Given the description of an element on the screen output the (x, y) to click on. 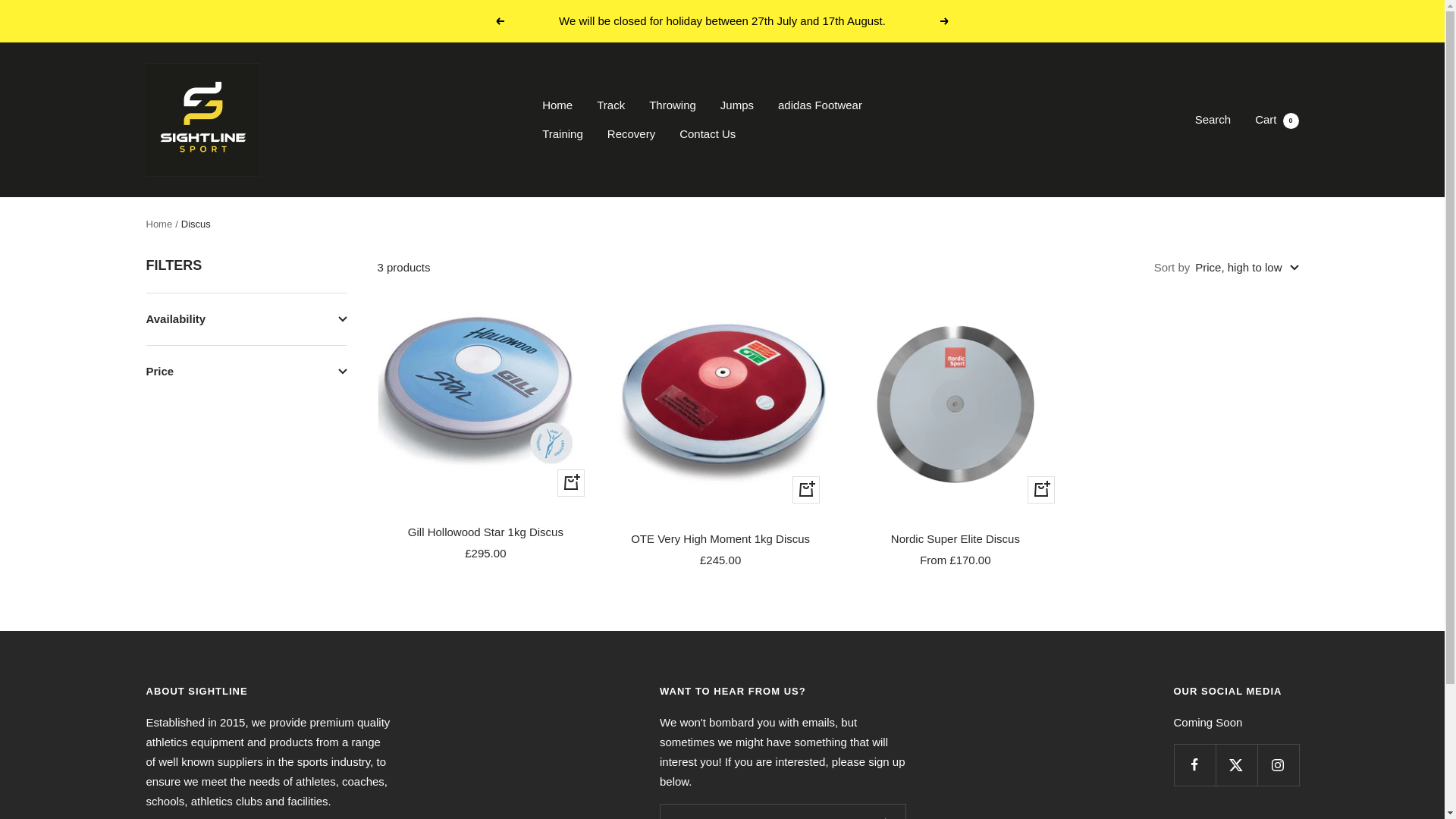
Jumps (737, 105)
Gill Hollowood Star 1kg Discus (485, 532)
Throwing (672, 105)
Next (944, 21)
Track (610, 105)
Availability (245, 318)
Home (158, 224)
adidas Footwear (819, 105)
Training (562, 134)
Recovery (631, 134)
Search (1213, 119)
OTE Very High Moment 1kg Discus (719, 538)
Sightline Sport (1276, 119)
Price, high to low (202, 119)
